Given the description of an element on the screen output the (x, y) to click on. 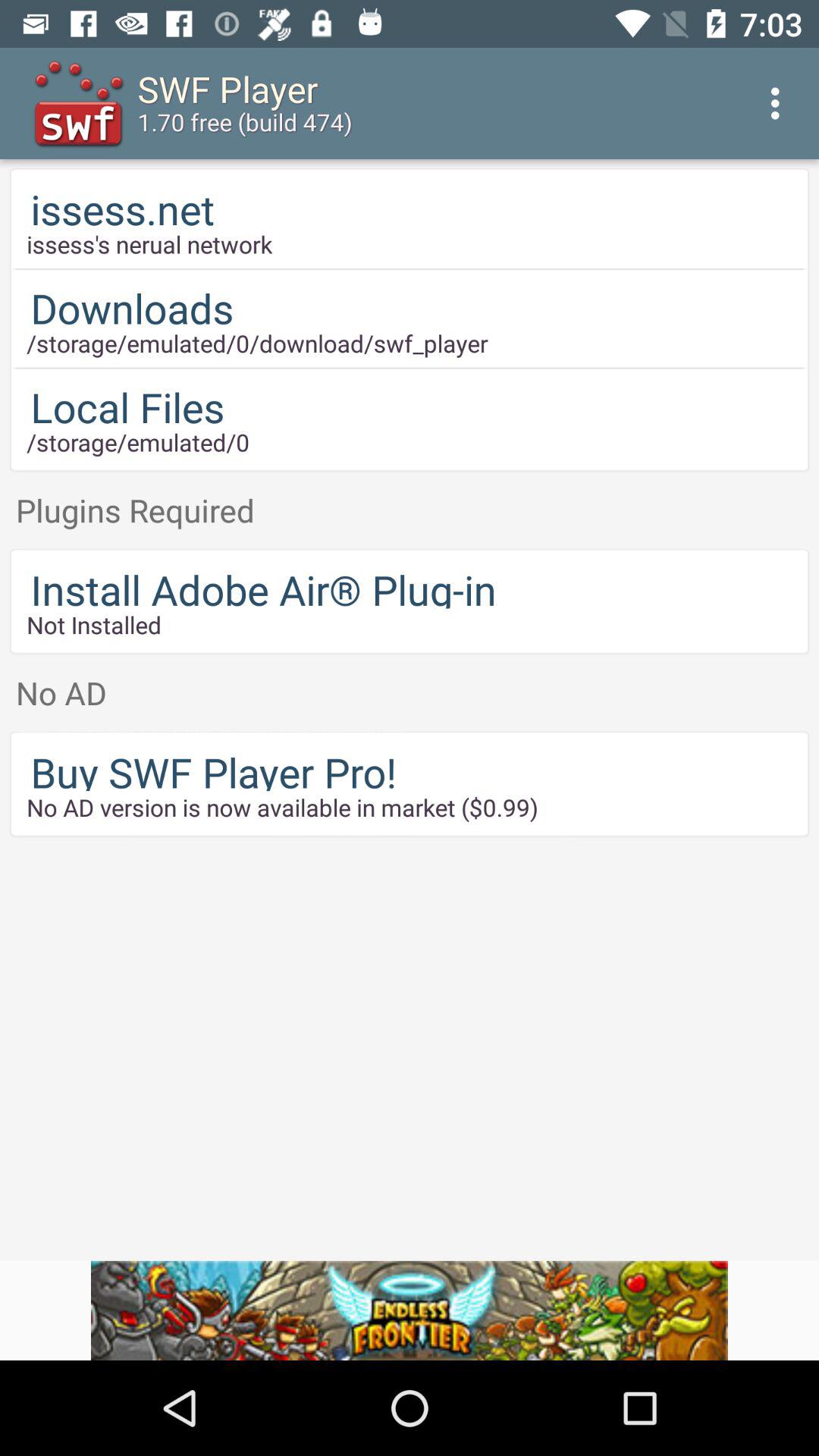
select the dots icon which is beside swf player (779, 103)
click on the icon which is to the left side of the swf player (79, 103)
